Given the description of an element on the screen output the (x, y) to click on. 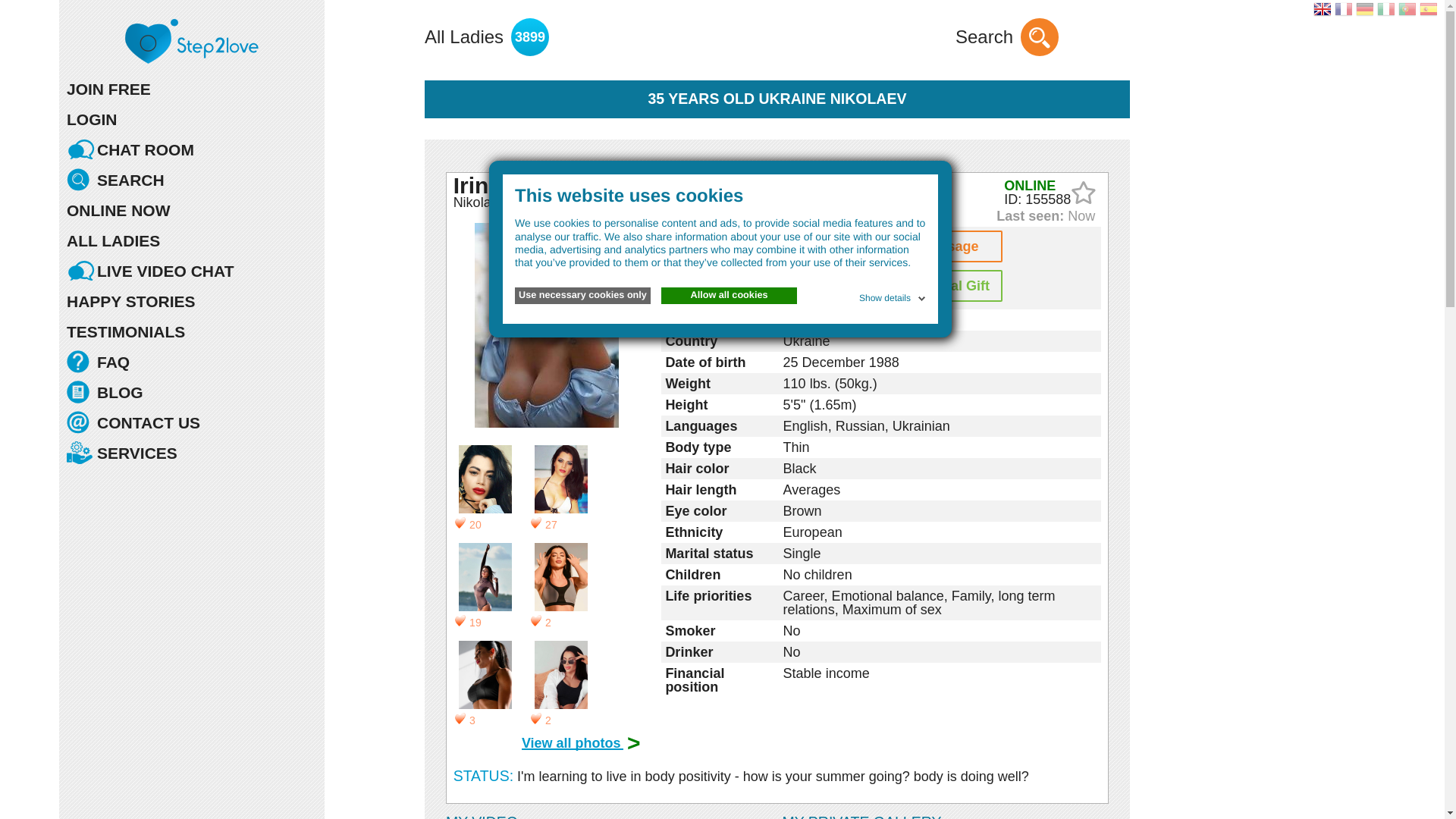
Use necessary cookies only (582, 295)
Show details (893, 295)
Allow all cookies (728, 295)
